Given the description of an element on the screen output the (x, y) to click on. 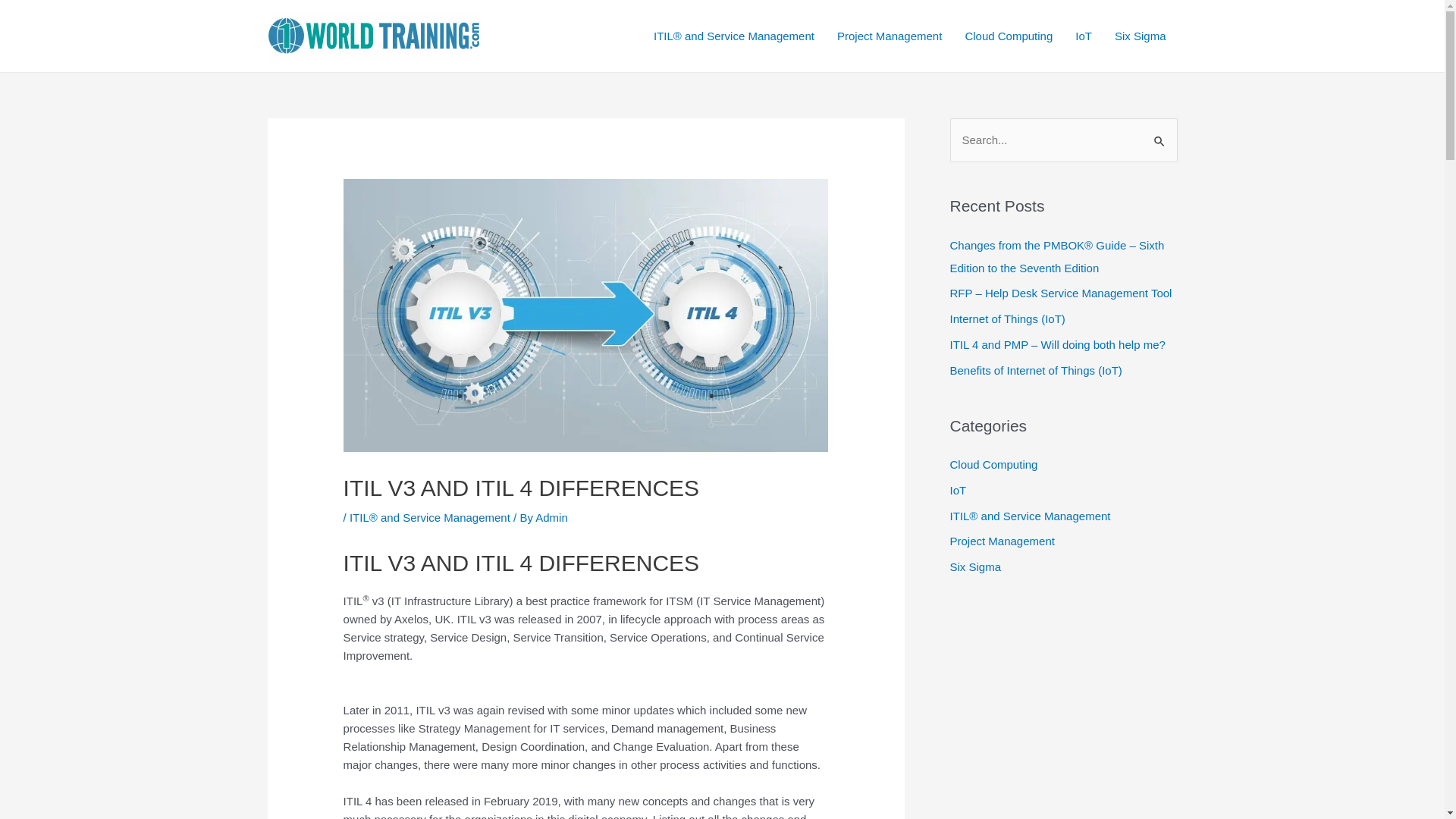
IoT Element type: text (957, 489)
Six Sigma Element type: text (1140, 35)
Project Management Element type: text (889, 35)
Admin Element type: text (551, 517)
Benefits of Internet of Things (IoT) Element type: text (1035, 370)
Search Element type: text (1160, 133)
Internet of Things (IoT) Element type: text (1006, 318)
Cloud Computing Element type: text (1008, 35)
IoT Element type: text (1083, 35)
Project Management Element type: text (1001, 540)
Cloud Computing Element type: text (993, 464)
Six Sigma Element type: text (975, 566)
